Given the description of an element on the screen output the (x, y) to click on. 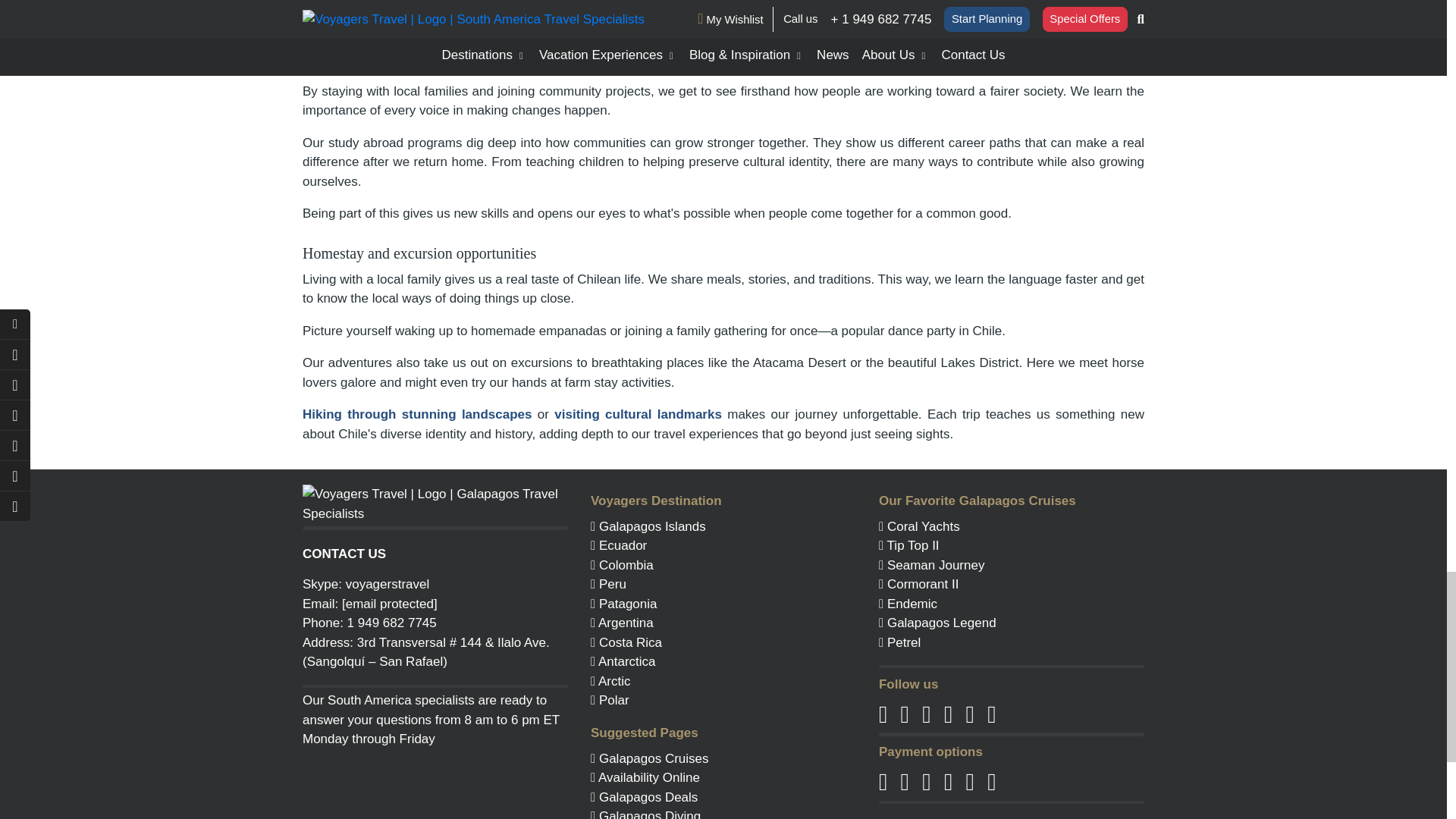
Payment method: Diners Club (970, 782)
Payment method: Discover (948, 782)
Payment method: Visa (883, 782)
Payment method: Mastercard (905, 782)
Payment method: American Express (926, 782)
Payment method: Bank Transfer or Check (991, 782)
